Given the description of an element on the screen output the (x, y) to click on. 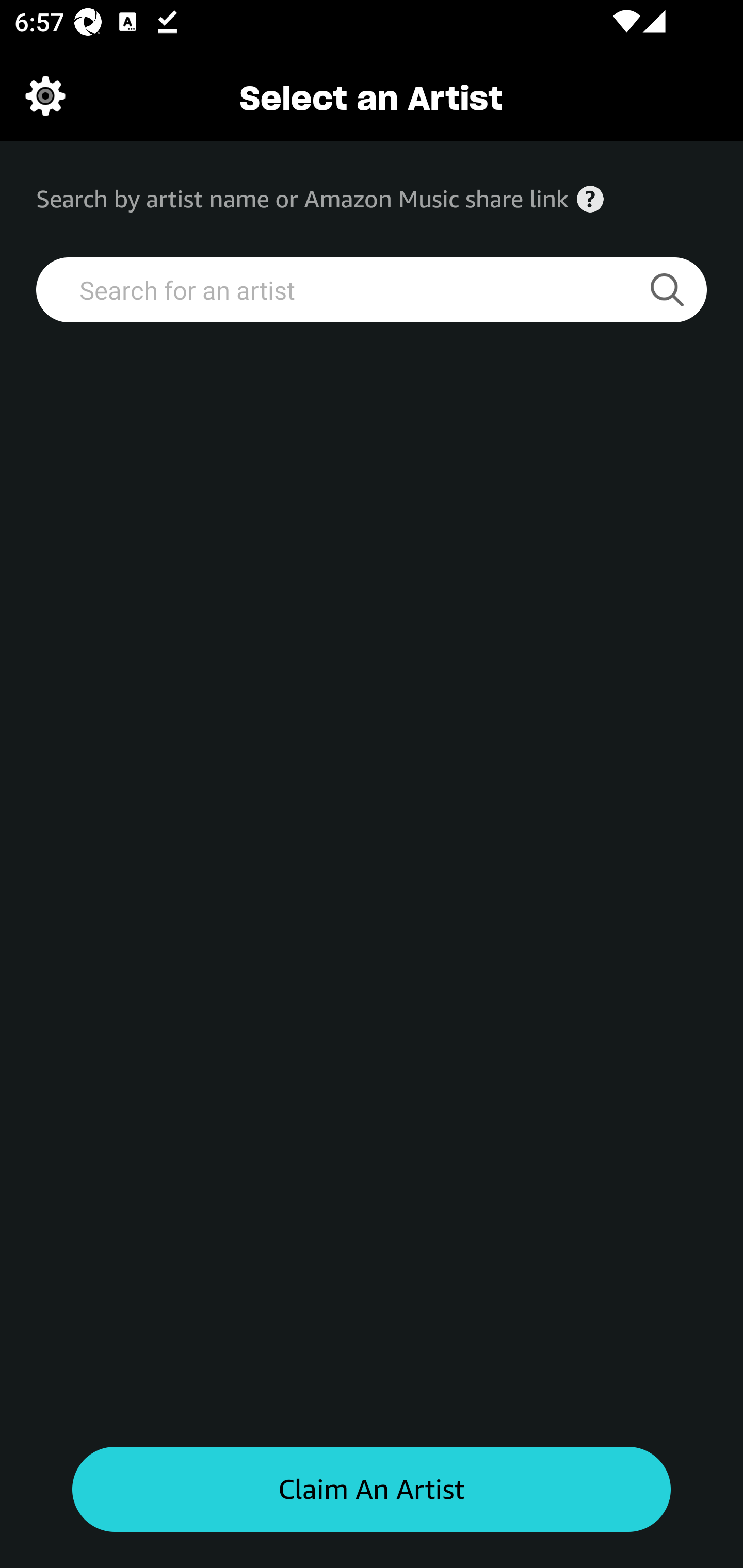
Help  icon (589, 199)
Claim an artist button Claim An Artist (371, 1489)
